Given the description of an element on the screen output the (x, y) to click on. 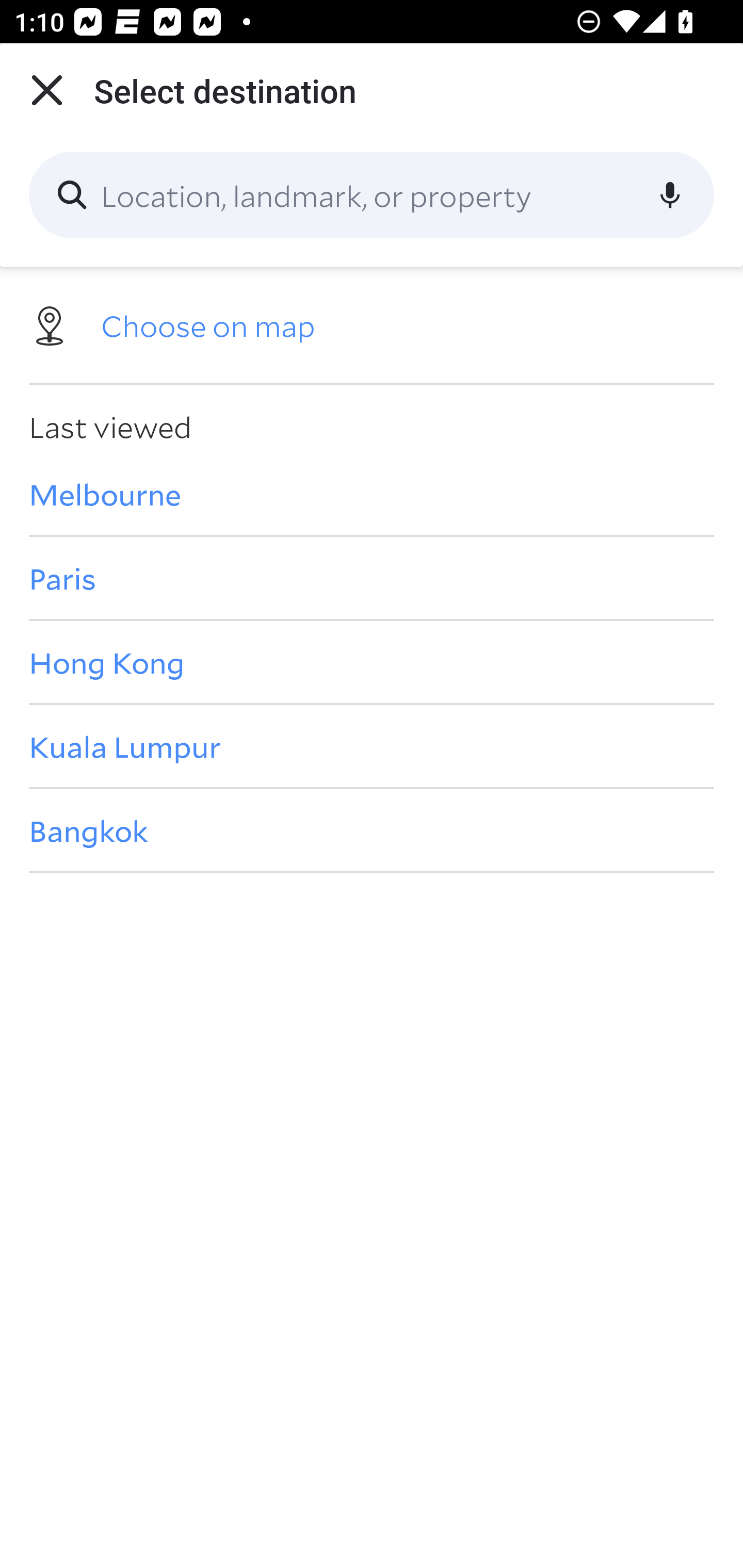
Location, landmark, or property (371, 195)
Choose on map (371, 324)
Melbourne (371, 493)
Paris (371, 577)
Hong Kong (371, 661)
Kuala Lumpur (371, 746)
Bangkok (371, 829)
